Given the description of an element on the screen output the (x, y) to click on. 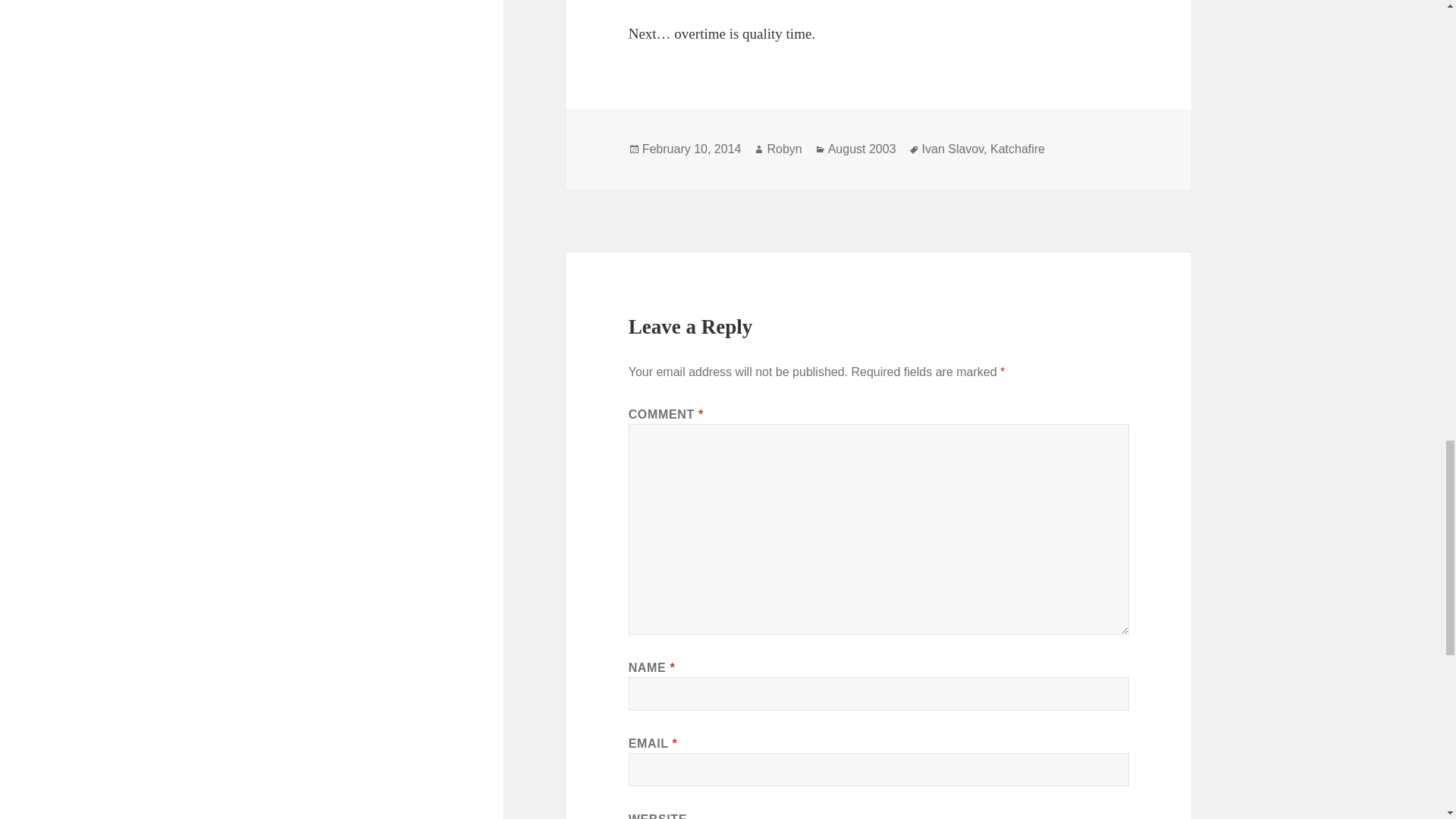
Ivan Slavov (952, 149)
Robyn (784, 149)
August 2003 (862, 149)
Katchafire (1017, 149)
February 10, 2014 (691, 149)
